Given the description of an element on the screen output the (x, y) to click on. 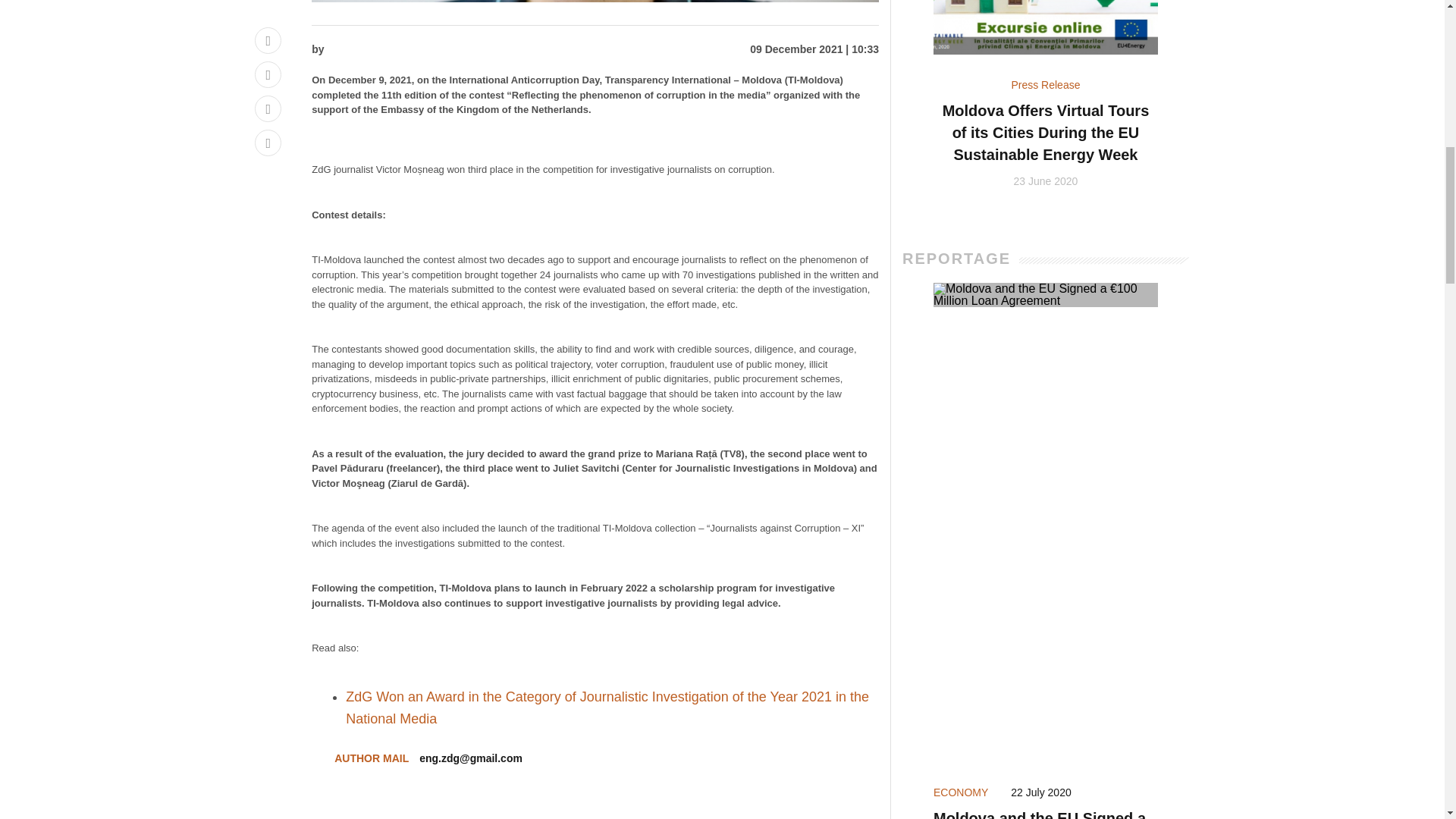
ECONOMY (960, 792)
22 July 2020 (1040, 792)
